Given the description of an element on the screen output the (x, y) to click on. 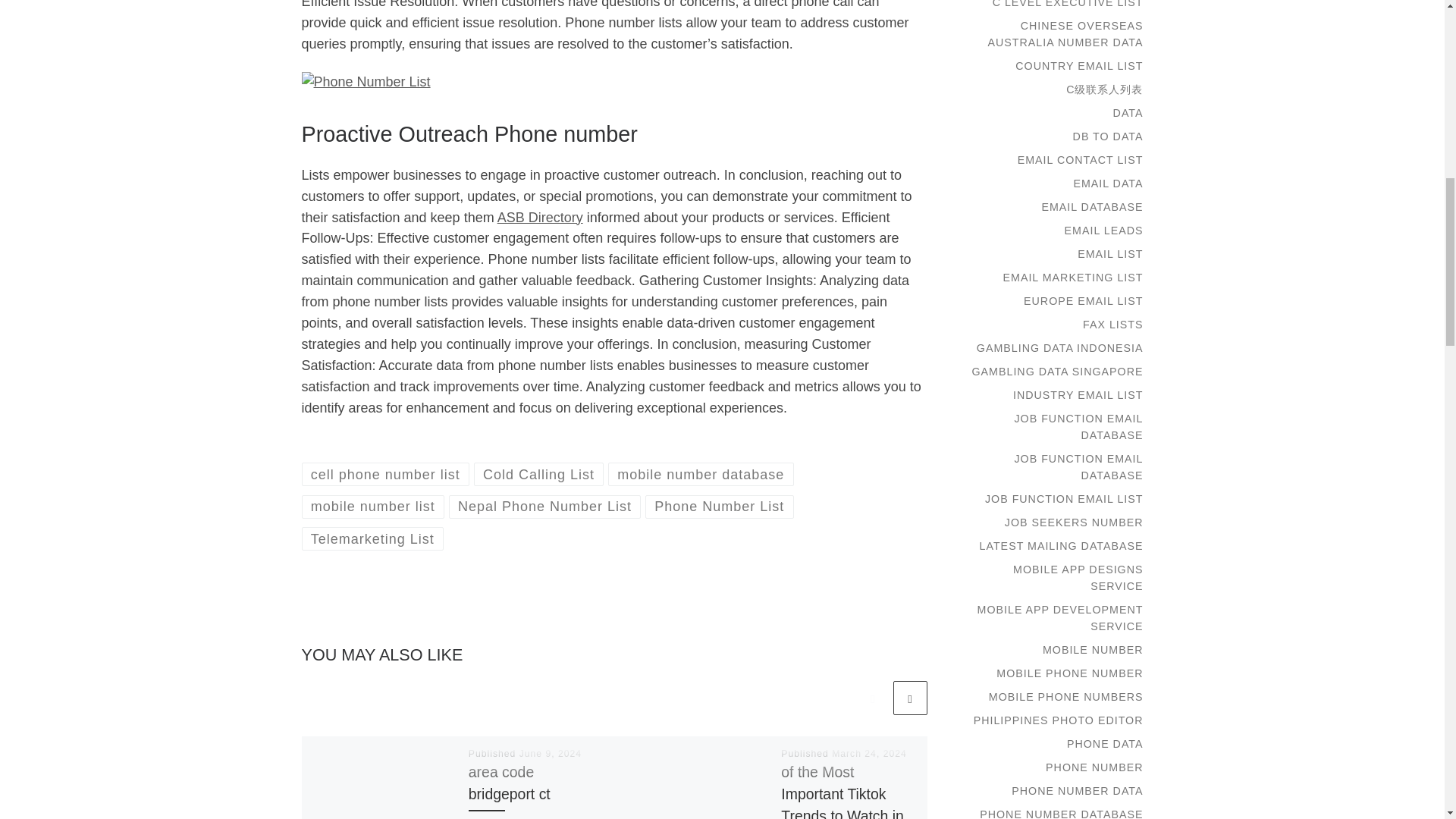
Nepal Phone Number List (545, 506)
mobile number list (373, 506)
area code bridgeport ct (509, 782)
March 24, 2024 (869, 753)
View all posts in Cold Calling List (539, 474)
Previous related articles (872, 697)
View all posts in Nepal Phone Number List (545, 506)
View all posts in mobile number list (373, 506)
of the Most Important Tiktok Trends to Watch in 2022 (842, 791)
June 9, 2024 (549, 753)
View all posts in Telemarketing List (372, 538)
View all posts in mobile number database (700, 474)
View all posts in Phone Number List (719, 506)
Phone Number List (719, 506)
Cold Calling List (539, 474)
